Given the description of an element on the screen output the (x, y) to click on. 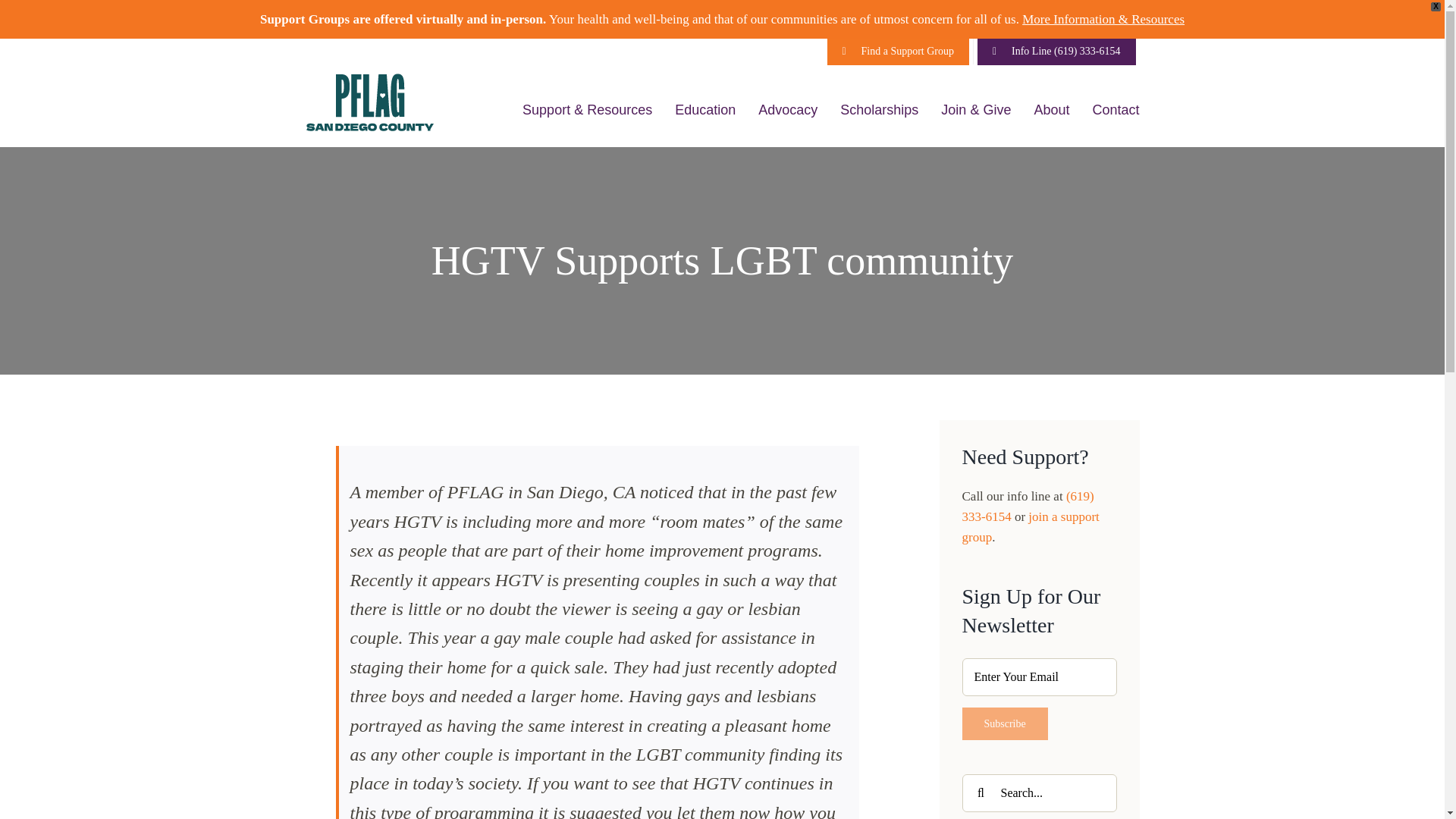
Scholarships (879, 109)
Subscribe (1003, 723)
Find a Support Group (899, 51)
